Given the description of an element on the screen output the (x, y) to click on. 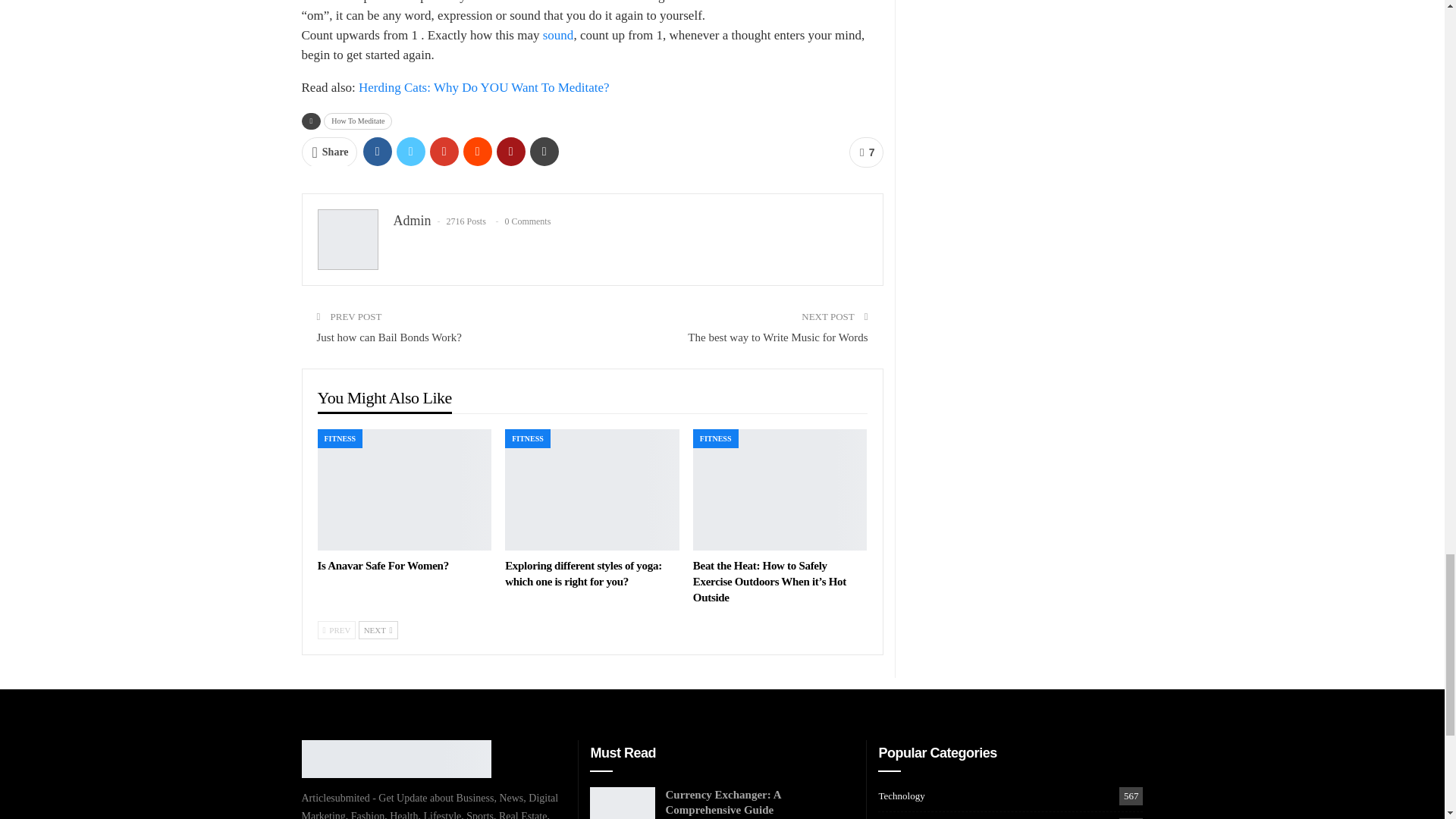
Is Anavar Safe For Women? (382, 565)
Is Anavar Safe For Women? (404, 490)
Previous (336, 629)
